Given the description of an element on the screen output the (x, y) to click on. 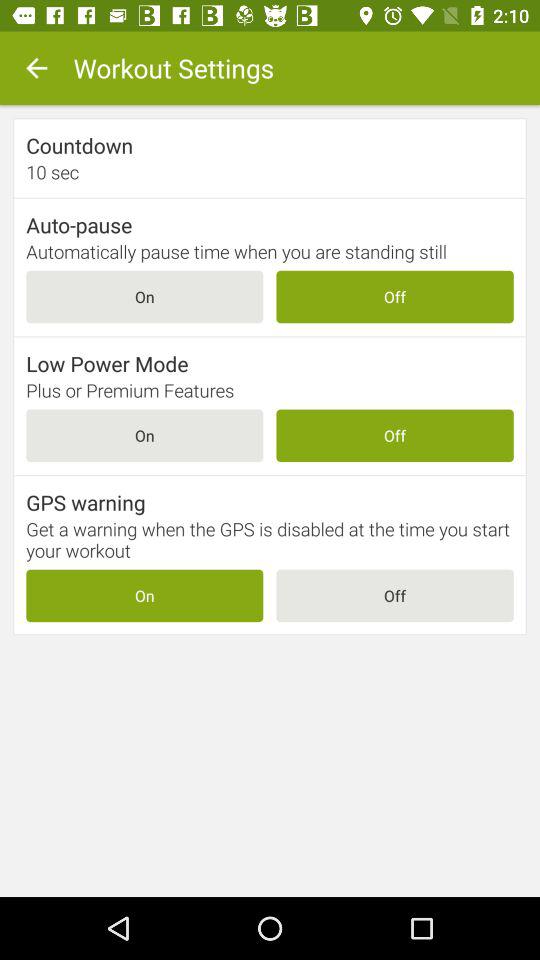
select the item to the left of the workout settings icon (36, 68)
